Given the description of an element on the screen output the (x, y) to click on. 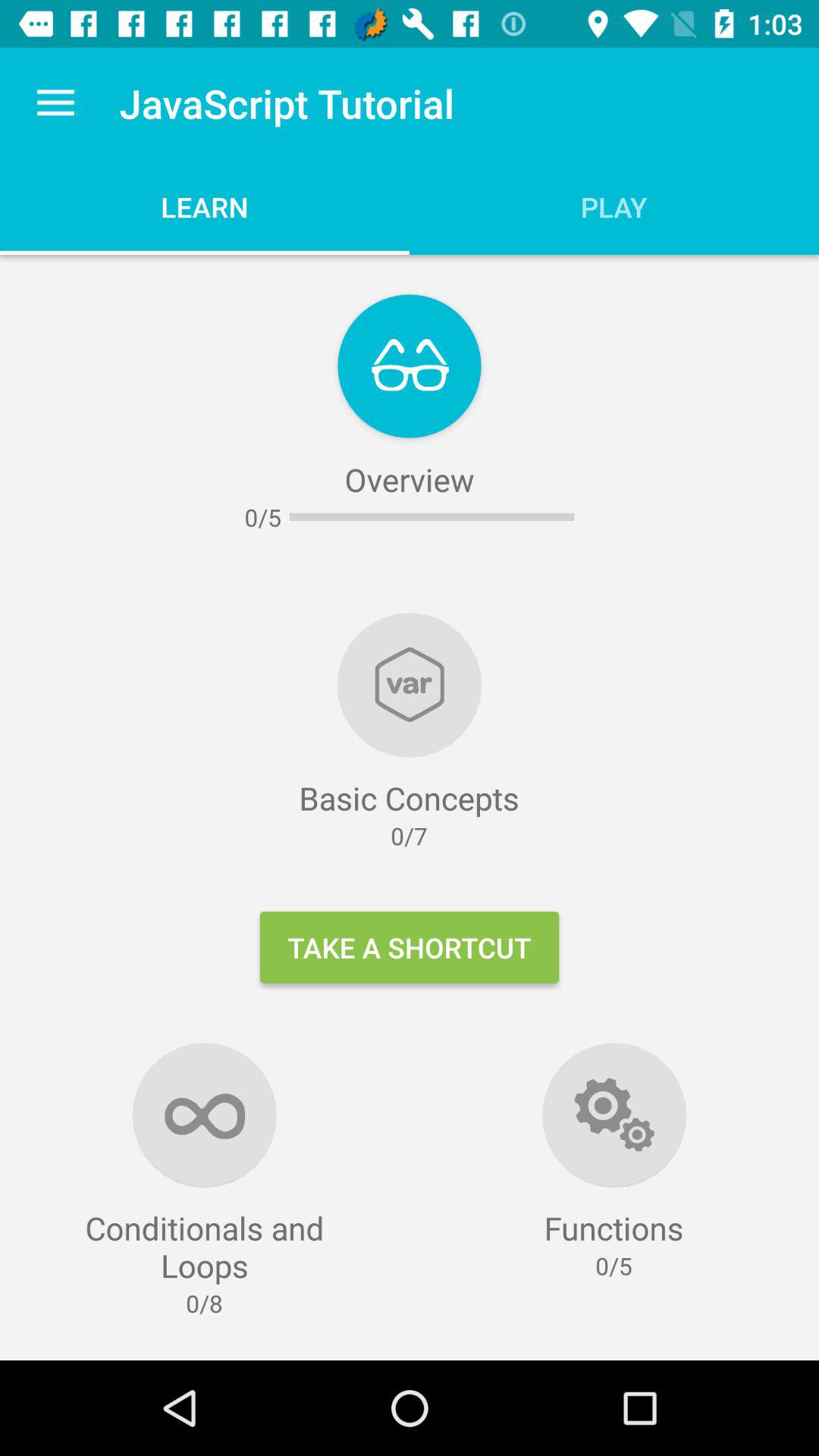
open icon next to the javascript tutorial (55, 103)
